Given the description of an element on the screen output the (x, y) to click on. 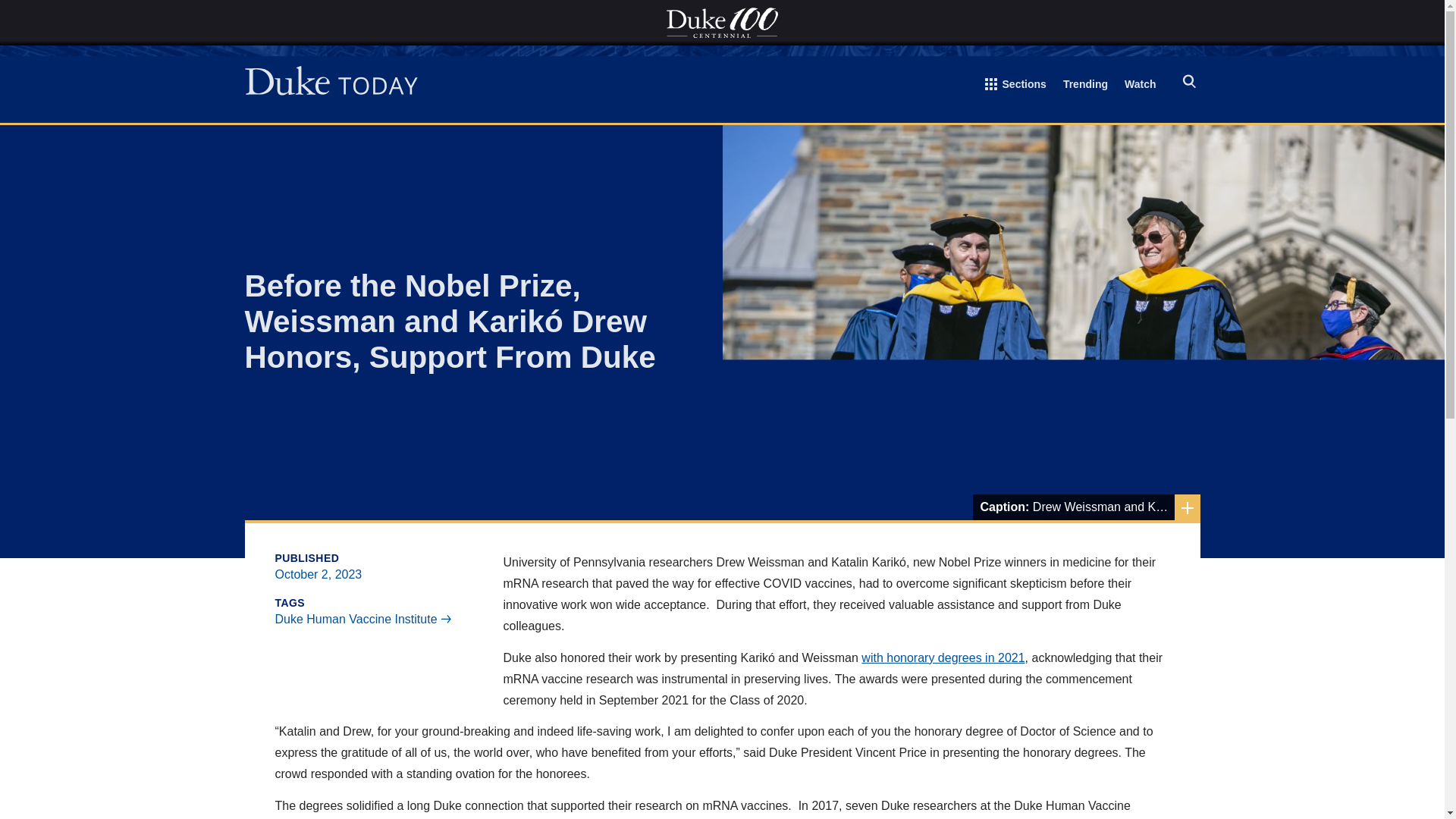
Sections (1015, 87)
Trending (1085, 86)
Watch (1140, 86)
